Given the description of an element on the screen output the (x, y) to click on. 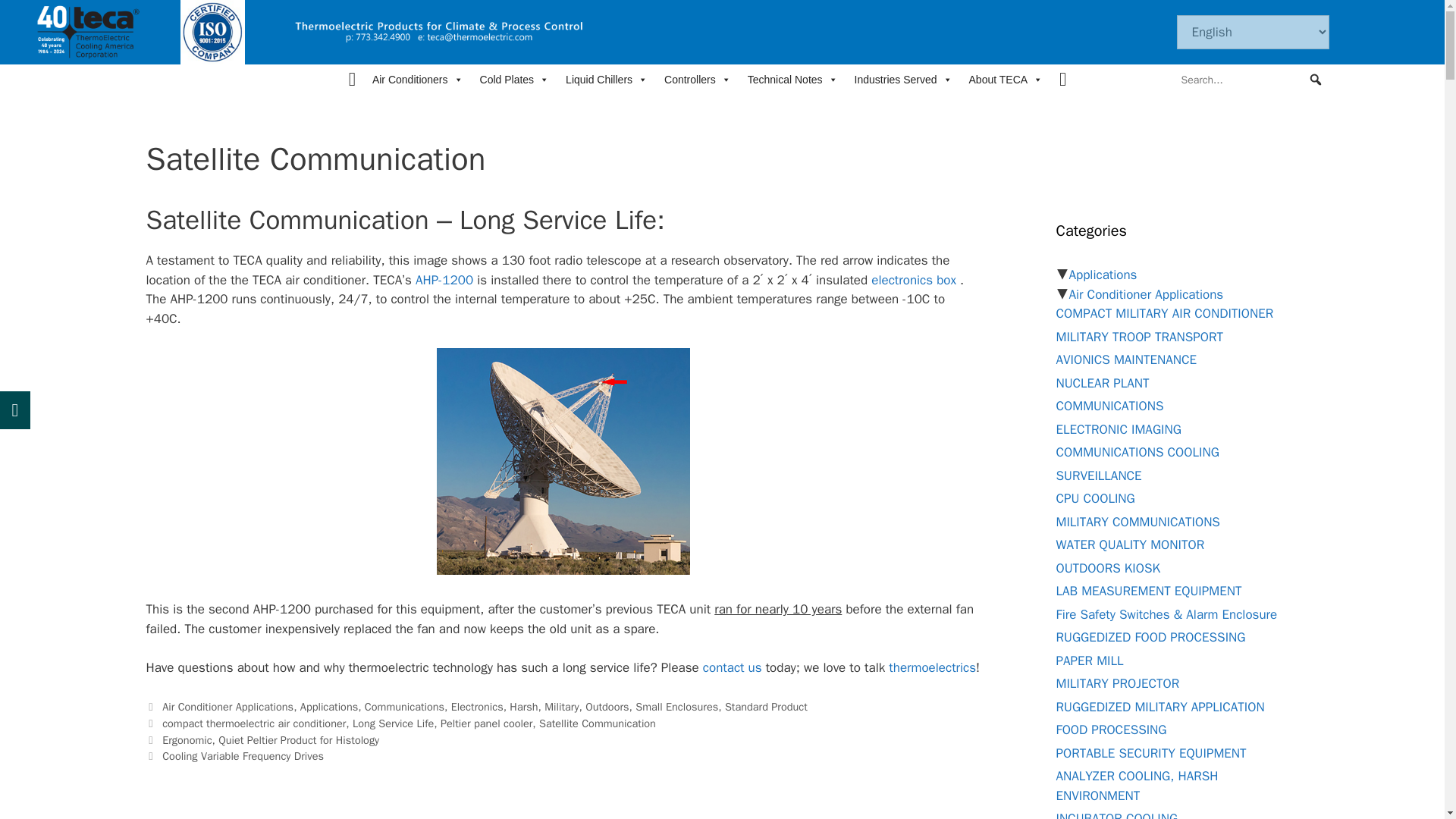
WATER QUALITY MONITOR (1129, 544)
MILITARY TROOP TRANSPORT (1139, 336)
CPU COOLING (1094, 498)
Cold Plates (514, 79)
Controllers (697, 79)
SURVEILLANCE (1098, 474)
Air Conditioners (417, 79)
COMMUNICATIONS COOLING (1136, 452)
COMPACT MILITARY AIR CONDITIONER (1163, 313)
NUCLEAR PLANT (1101, 382)
ELECTRONIC IMAGING (1117, 429)
COMMUNICATIONS (1109, 406)
Liquid Chillers (606, 79)
View all posts filed under Air Conditioner Applications (1146, 294)
AVIONICS MAINTENANCE (1125, 359)
